Given the description of an element on the screen output the (x, y) to click on. 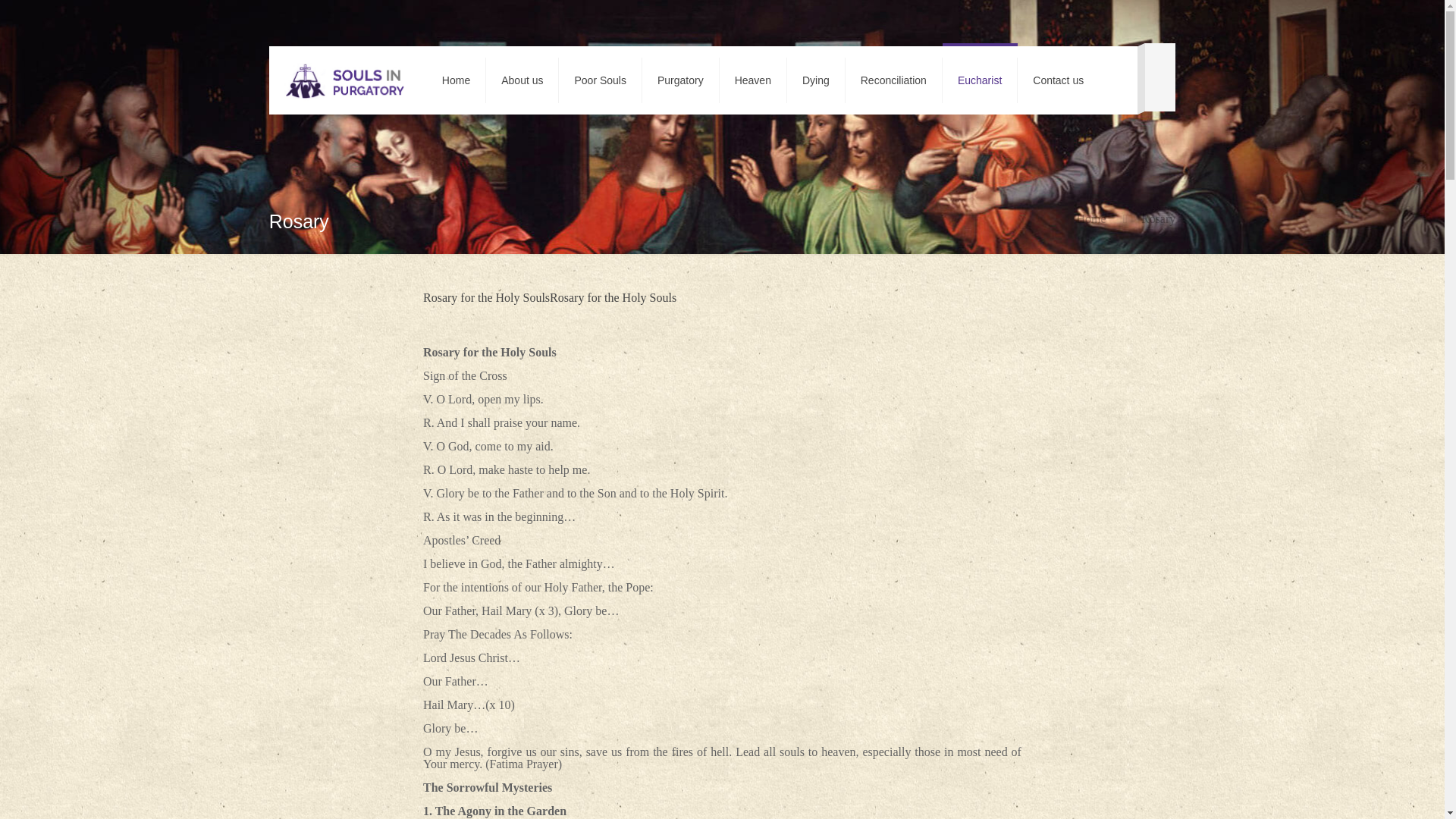
About us (522, 79)
Contact us (1058, 79)
Home (1090, 218)
Eucharist (979, 79)
Reconciliation (893, 79)
Purgatory (680, 79)
Souls in Purgatory (343, 79)
Heaven (753, 79)
Poor Souls (600, 79)
